Given the description of an element on the screen output the (x, y) to click on. 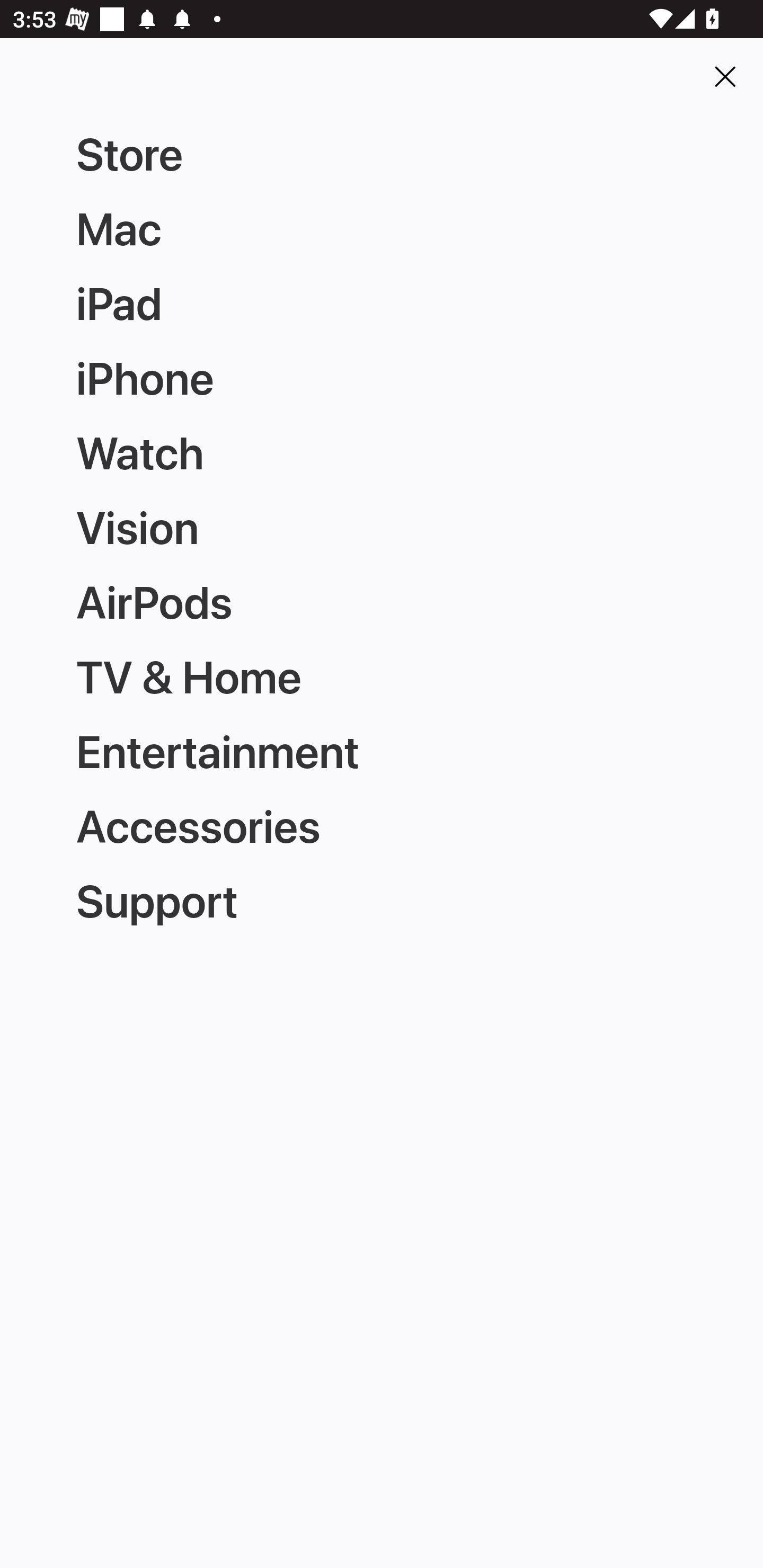
Close (724, 75)
Store menu (381, 155)
Mac menu (381, 230)
iPad menu (381, 304)
iPhone menu (381, 380)
Watch menu (381, 453)
Vision menu (381, 528)
AirPods menu (381, 601)
TV and Home menu (381, 675)
Entertainment menu (381, 749)
Accessories menu (381, 821)
Support menu (381, 893)
